Given the description of an element on the screen output the (x, y) to click on. 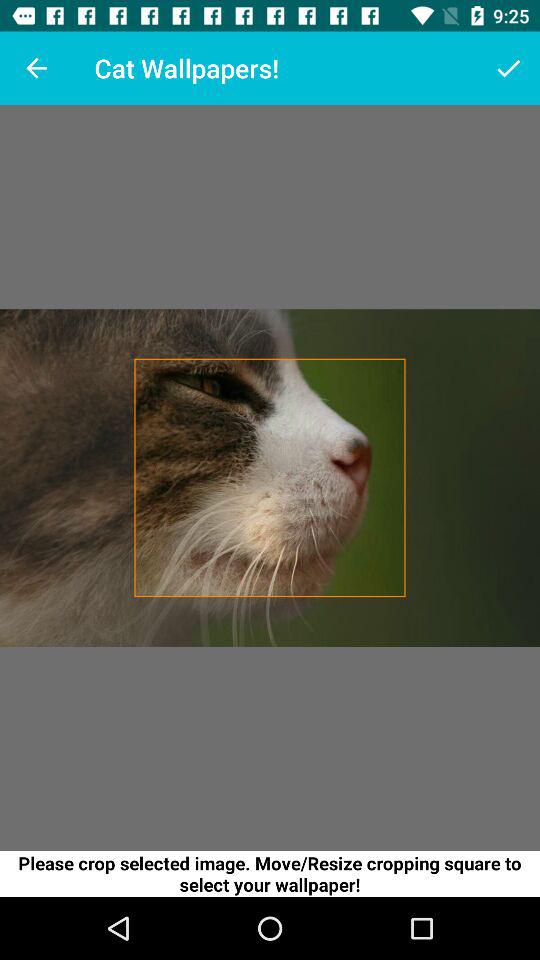
press icon to the left of the cat wallpapers! icon (36, 68)
